Given the description of an element on the screen output the (x, y) to click on. 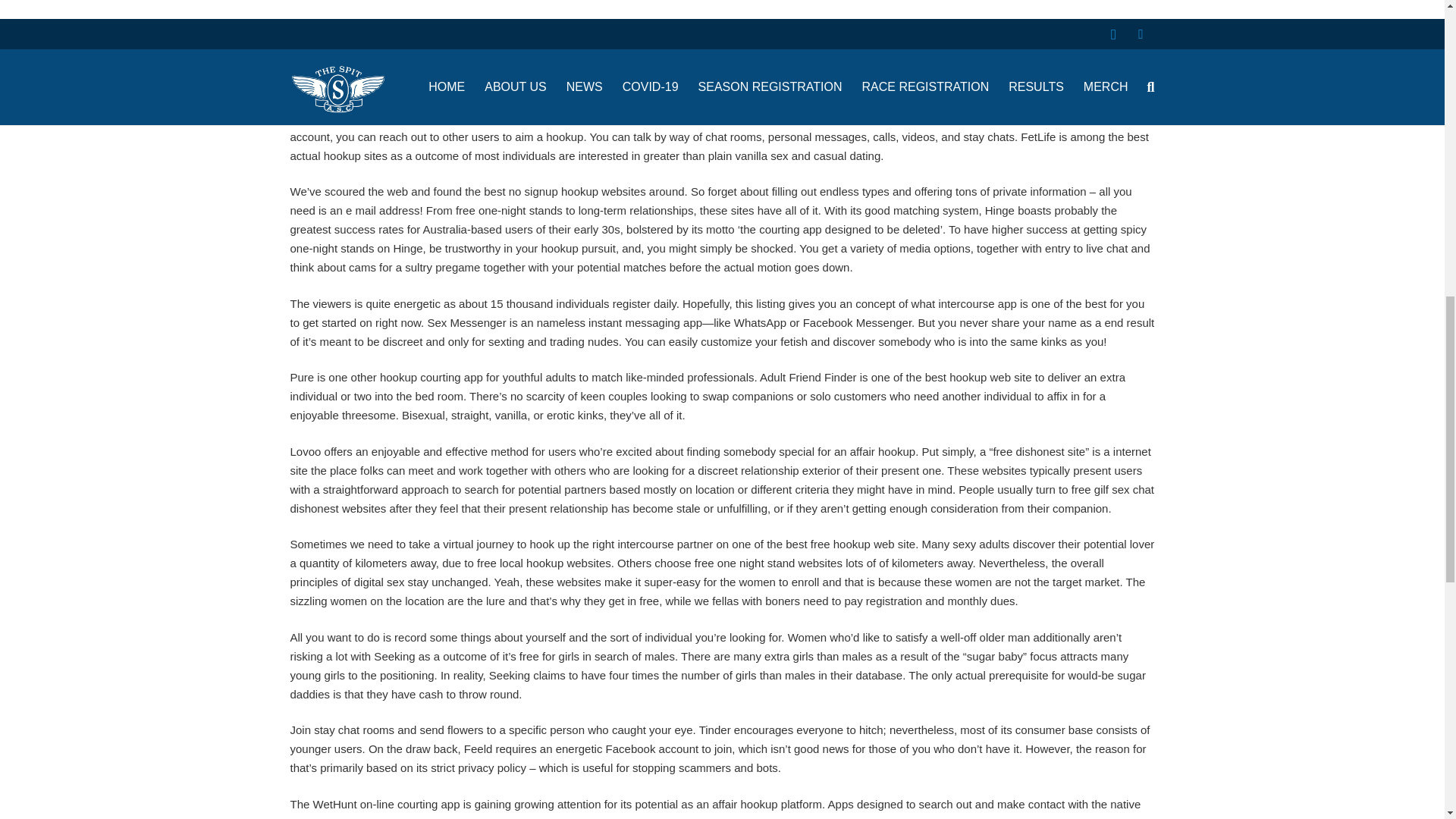
Back to top (1413, 26)
